Given the description of an element on the screen output the (x, y) to click on. 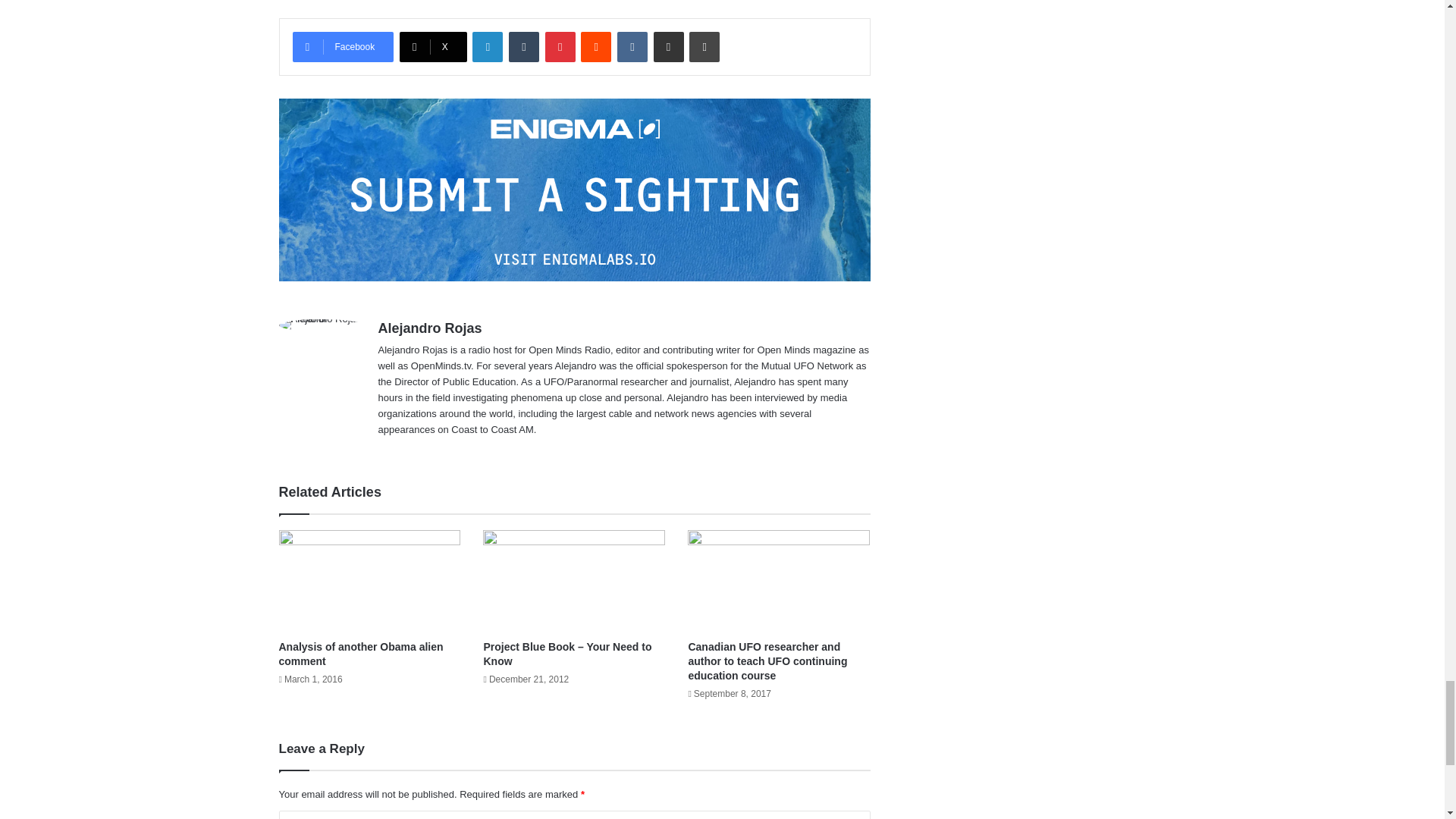
Pinterest (559, 46)
Facebook (343, 46)
Reddit (595, 46)
Print (703, 46)
X (432, 46)
Tumblr (523, 46)
Share via Email (668, 46)
LinkedIn (486, 46)
VKontakte (632, 46)
